Given the description of an element on the screen output the (x, y) to click on. 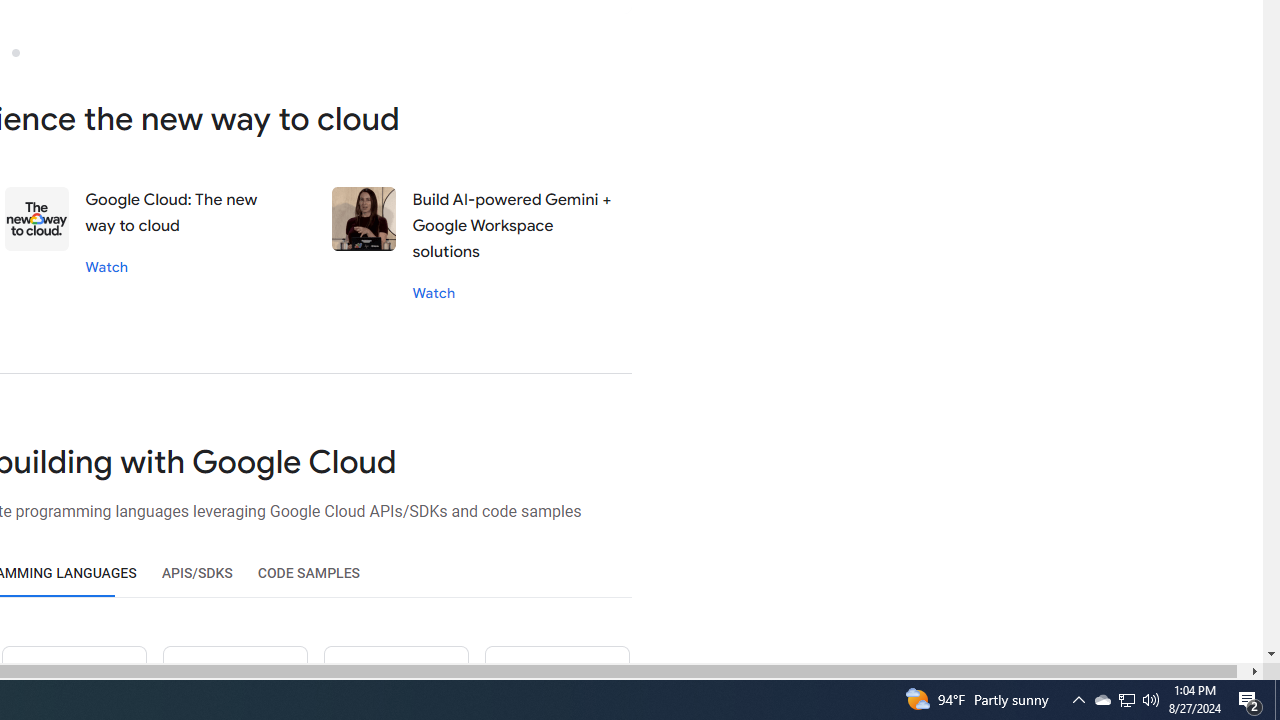
Ruby icon (235, 682)
Watch (433, 292)
CODE SAMPLES (308, 573)
Data value (37, 219)
CODE SAMPLES (308, 573)
Stephanie wong's interview session (363, 219)
Dot net icon (395, 682)
CPP icon (556, 682)
APIS/SDKS (196, 573)
Slide 3 (15, 52)
APIS/SDKS (196, 573)
